Given the description of an element on the screen output the (x, y) to click on. 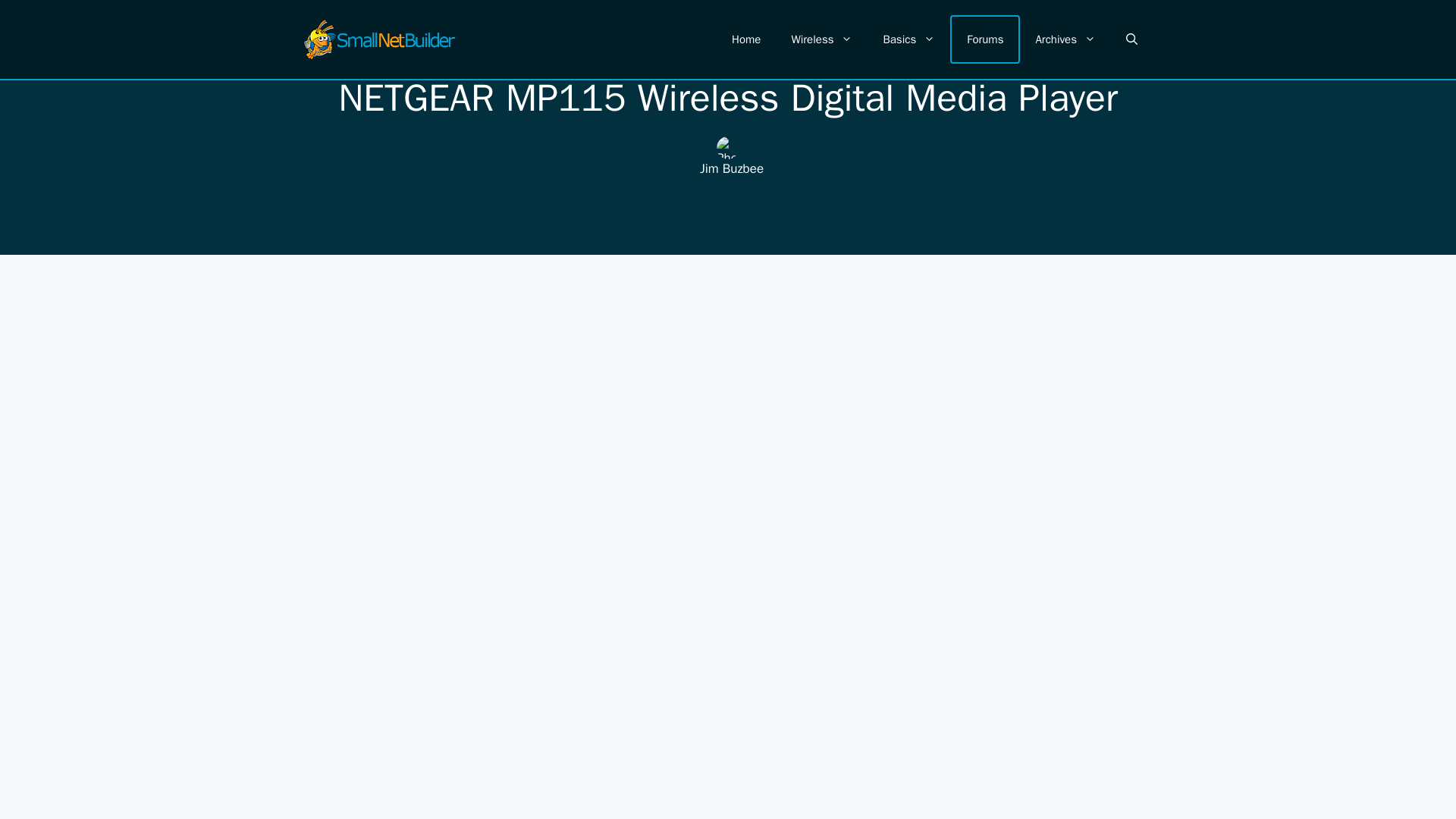
Basics (908, 39)
Forums (984, 39)
Archives (1065, 39)
Wireless (821, 39)
Home (746, 39)
